Given the description of an element on the screen output the (x, y) to click on. 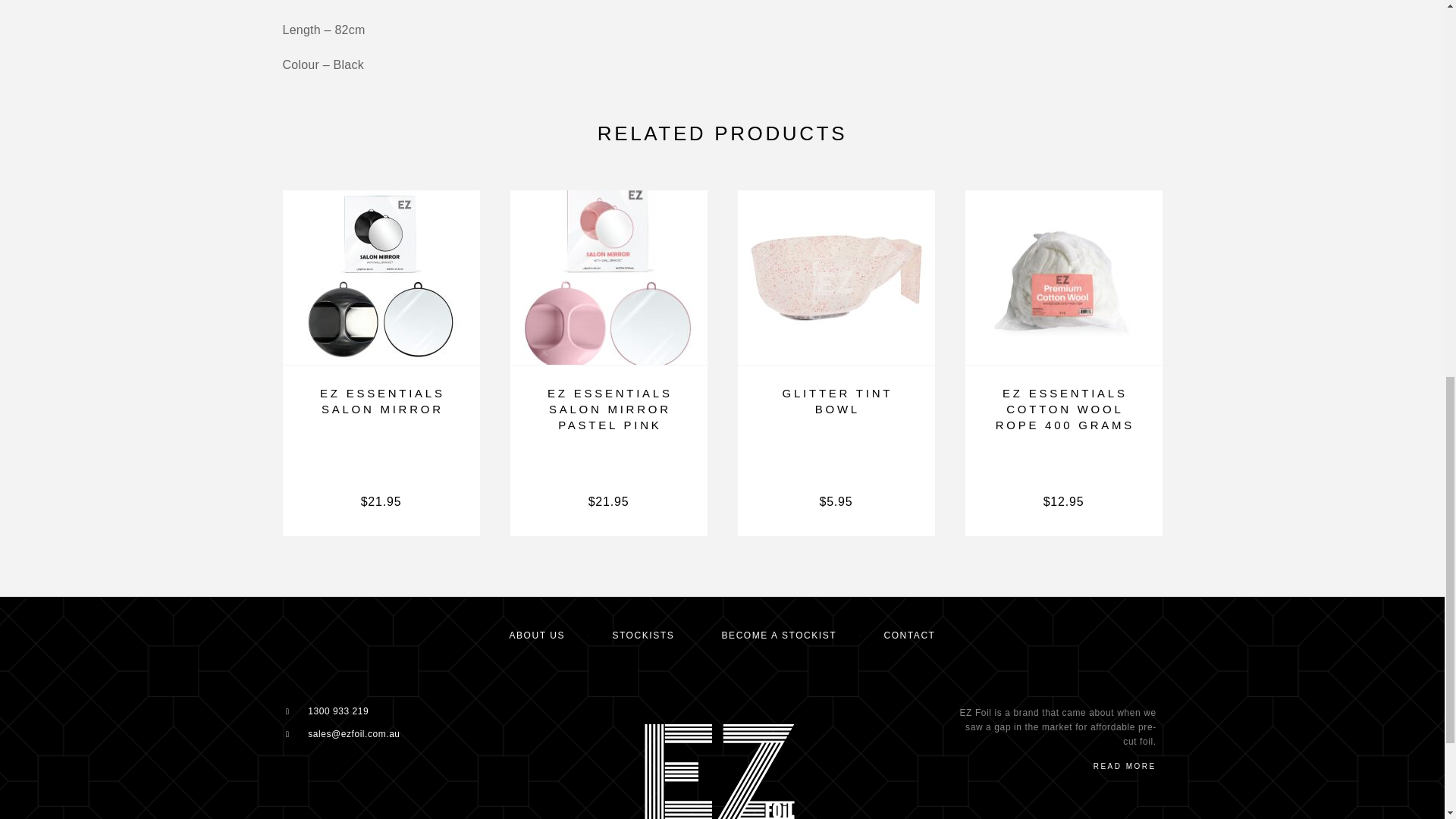
logo-white (718, 770)
